Given the description of an element on the screen output the (x, y) to click on. 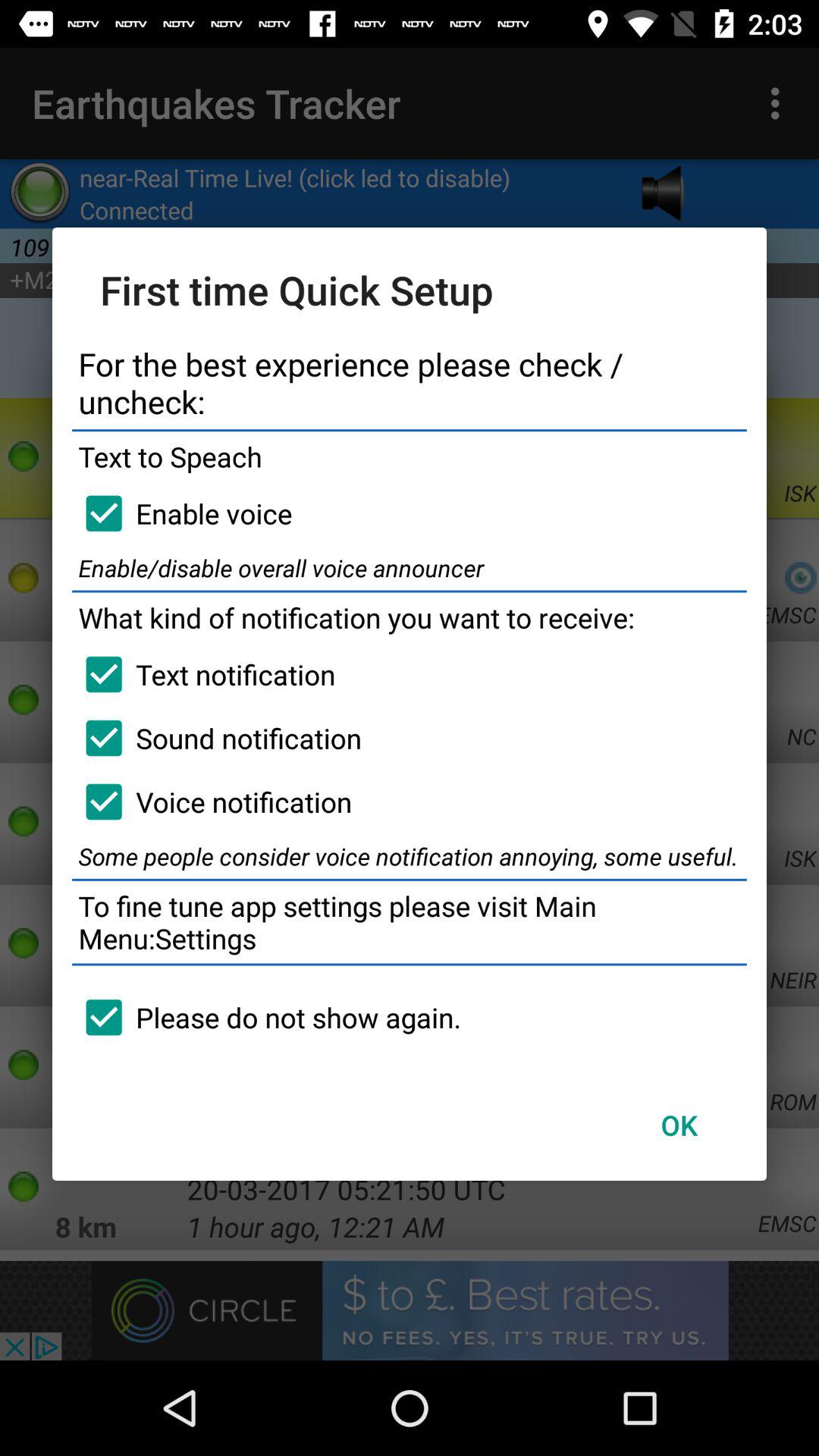
select please do not at the bottom left corner (266, 1017)
